Given the description of an element on the screen output the (x, y) to click on. 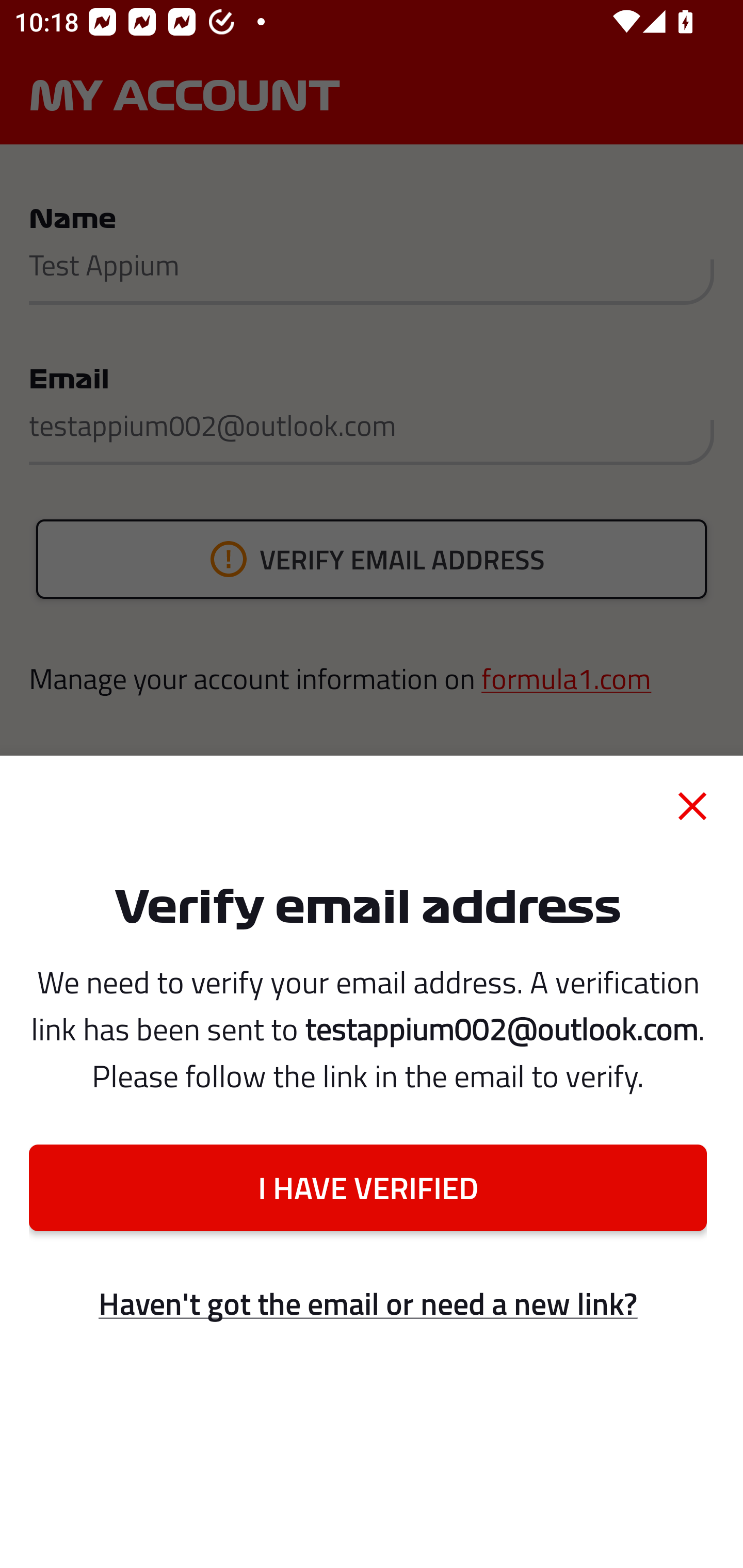
I HAVE VERIFIED (367, 1187)
Haven't got the email or need a new link? (367, 1303)
